Given the description of an element on the screen output the (x, y) to click on. 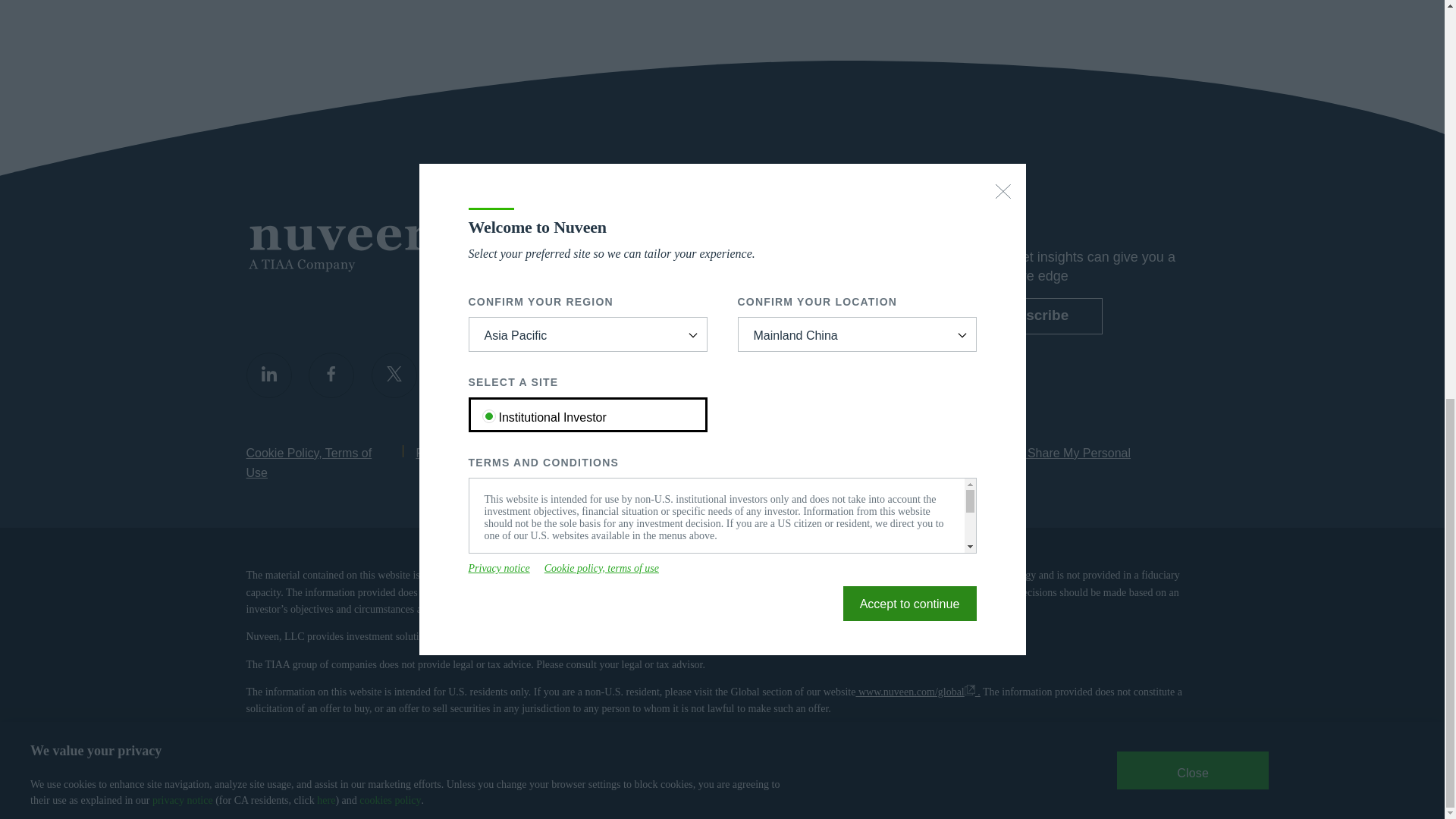
opens in a new window (811, 636)
opens in a new window (782, 271)
opens in a new window (864, 462)
opens in a new window (751, 636)
